Given the description of an element on the screen output the (x, y) to click on. 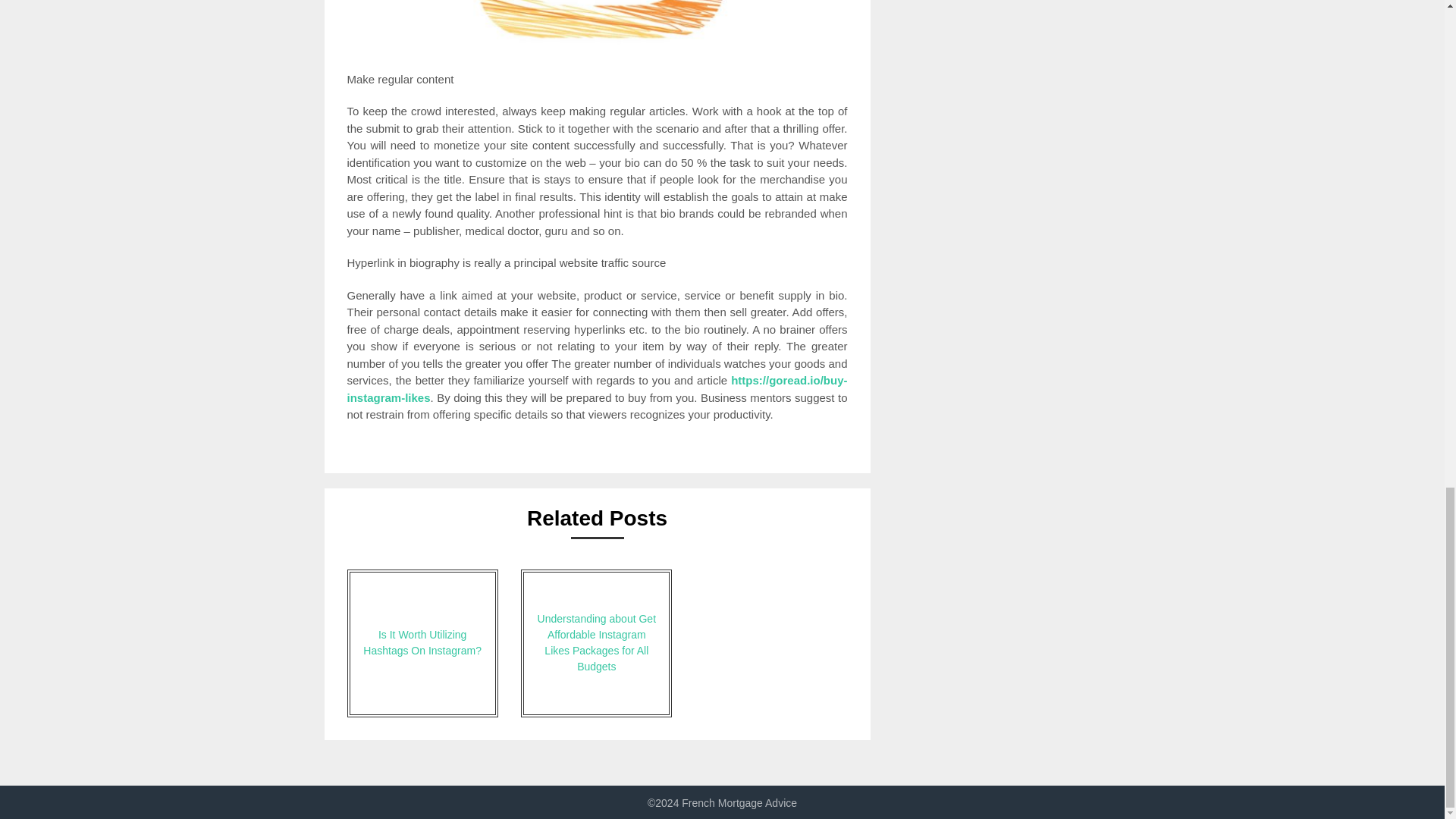
Is It Worth Utilizing Hashtags On Instagram? (422, 643)
Is It Worth Utilizing Hashtags On Instagram? (422, 643)
